Given the description of an element on the screen output the (x, y) to click on. 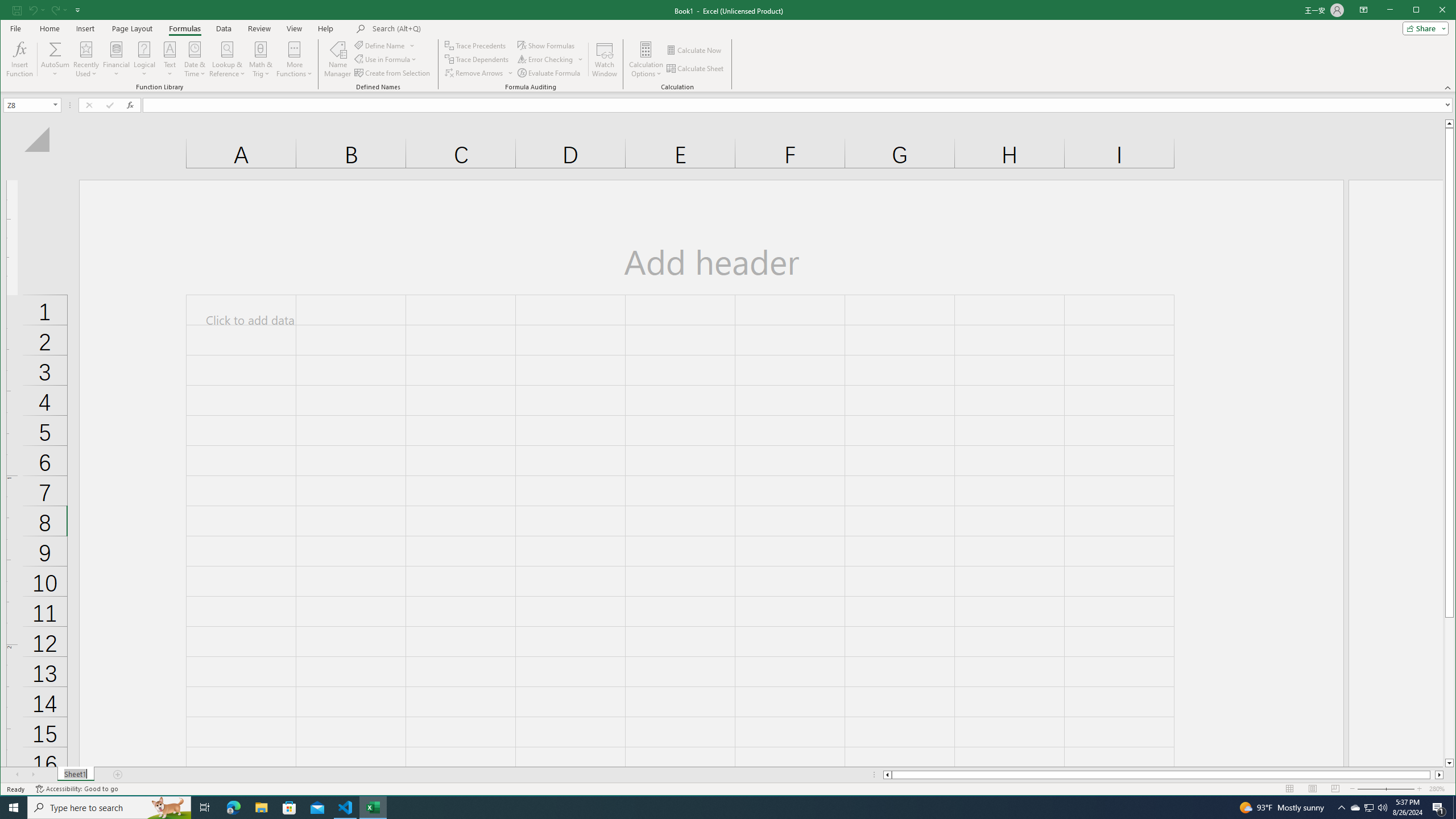
Logical (1368, 807)
Q2790: 100% (144, 59)
Remove Arrows (1382, 807)
Sheet Tab (474, 72)
AutoSum (75, 774)
Microsoft Store (55, 59)
Trace Dependents (289, 807)
